Given the description of an element on the screen output the (x, y) to click on. 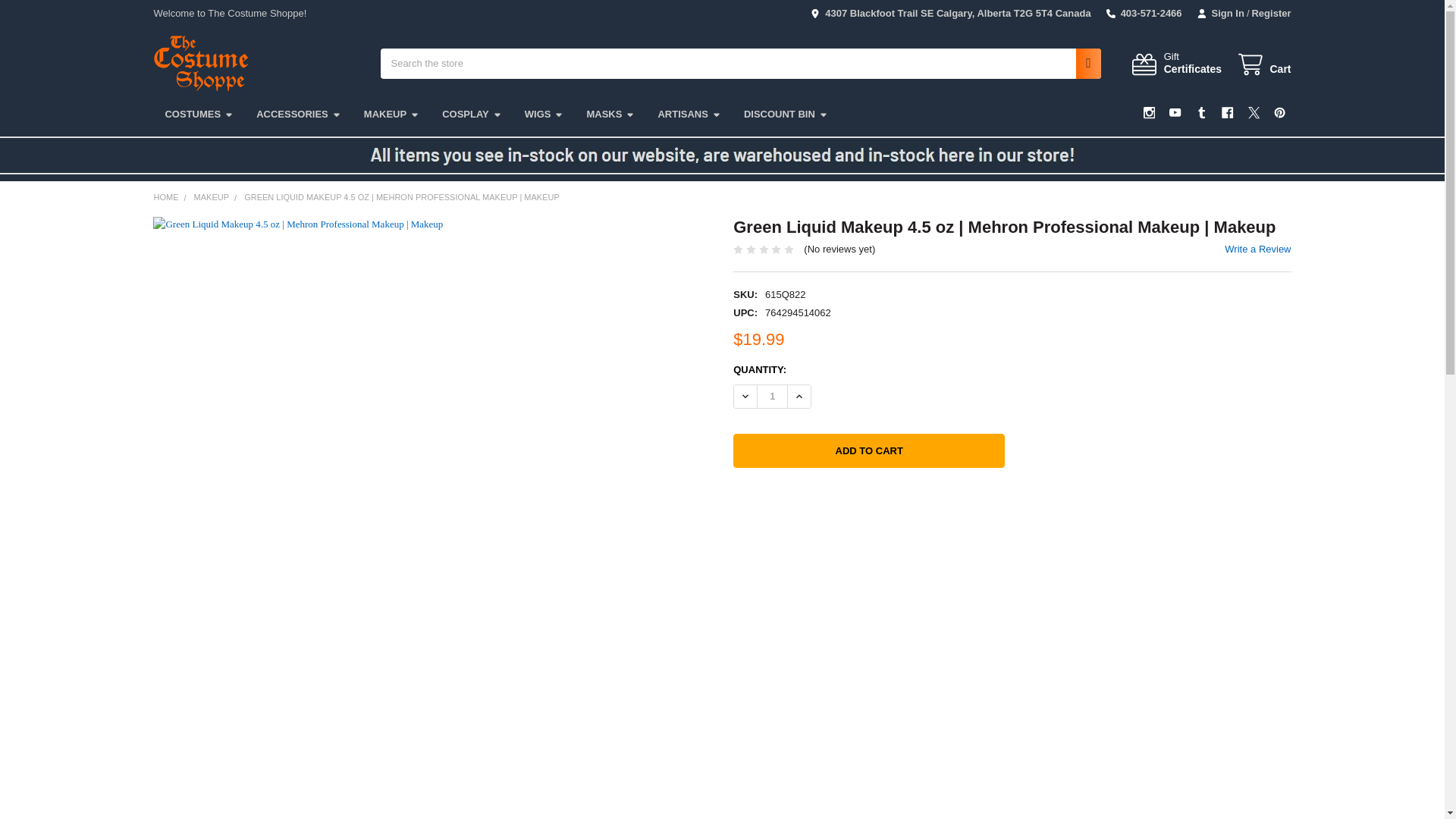
Facebook (1227, 112)
Cart (1263, 64)
Youtube (1174, 112)
Register (1266, 13)
COSTUMES (198, 113)
Search (1083, 63)
Instagram (1149, 112)
Add to Cart (868, 450)
Cart (1176, 63)
ACCESSORIES (1263, 64)
X (298, 113)
The Costume Shoppe (1254, 112)
Pinterest (200, 63)
Tumblr (1279, 112)
